Given the description of an element on the screen output the (x, y) to click on. 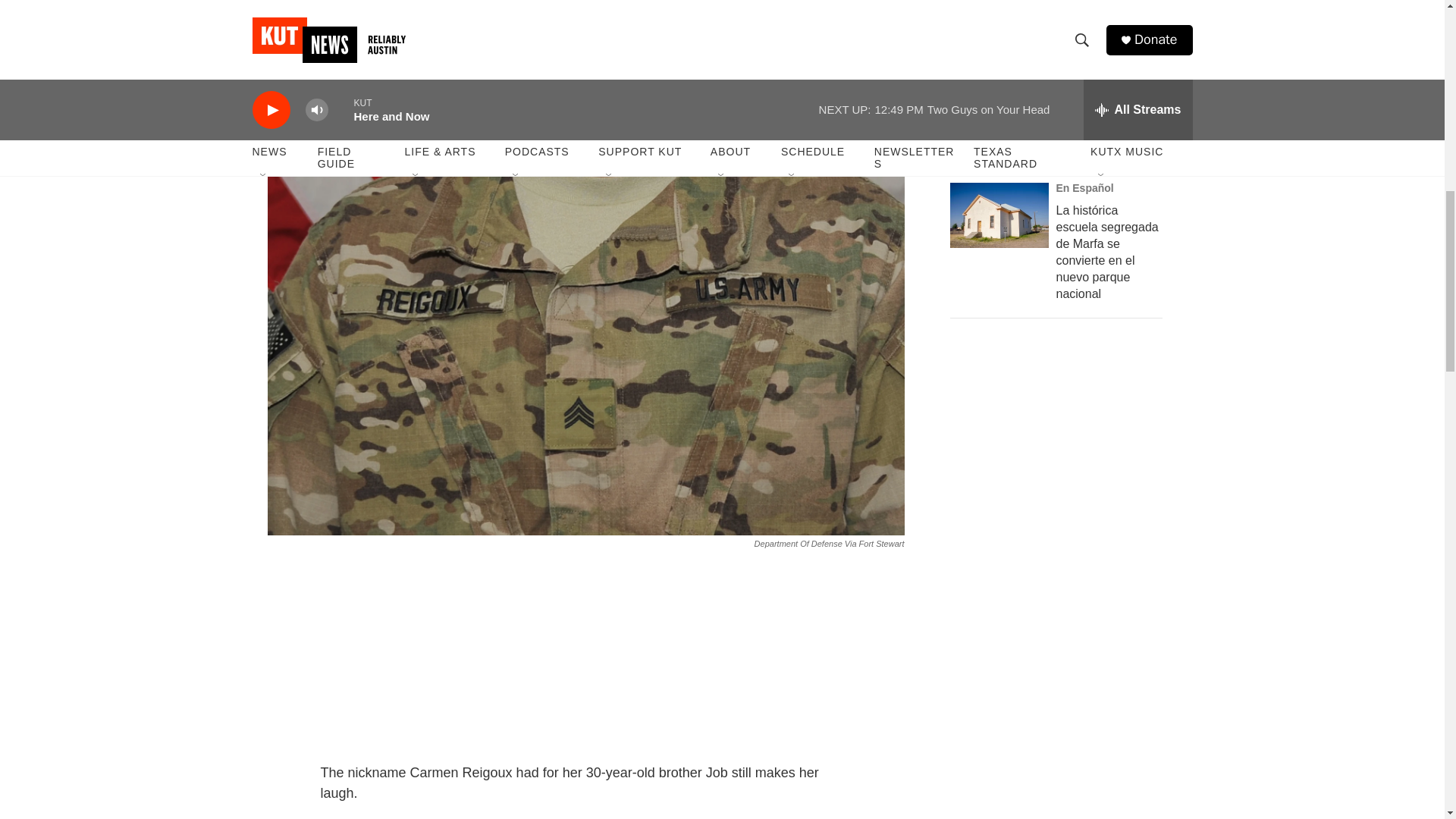
3rd party ad content (1062, 663)
3rd party ad content (1062, 443)
